Given the description of an element on the screen output the (x, y) to click on. 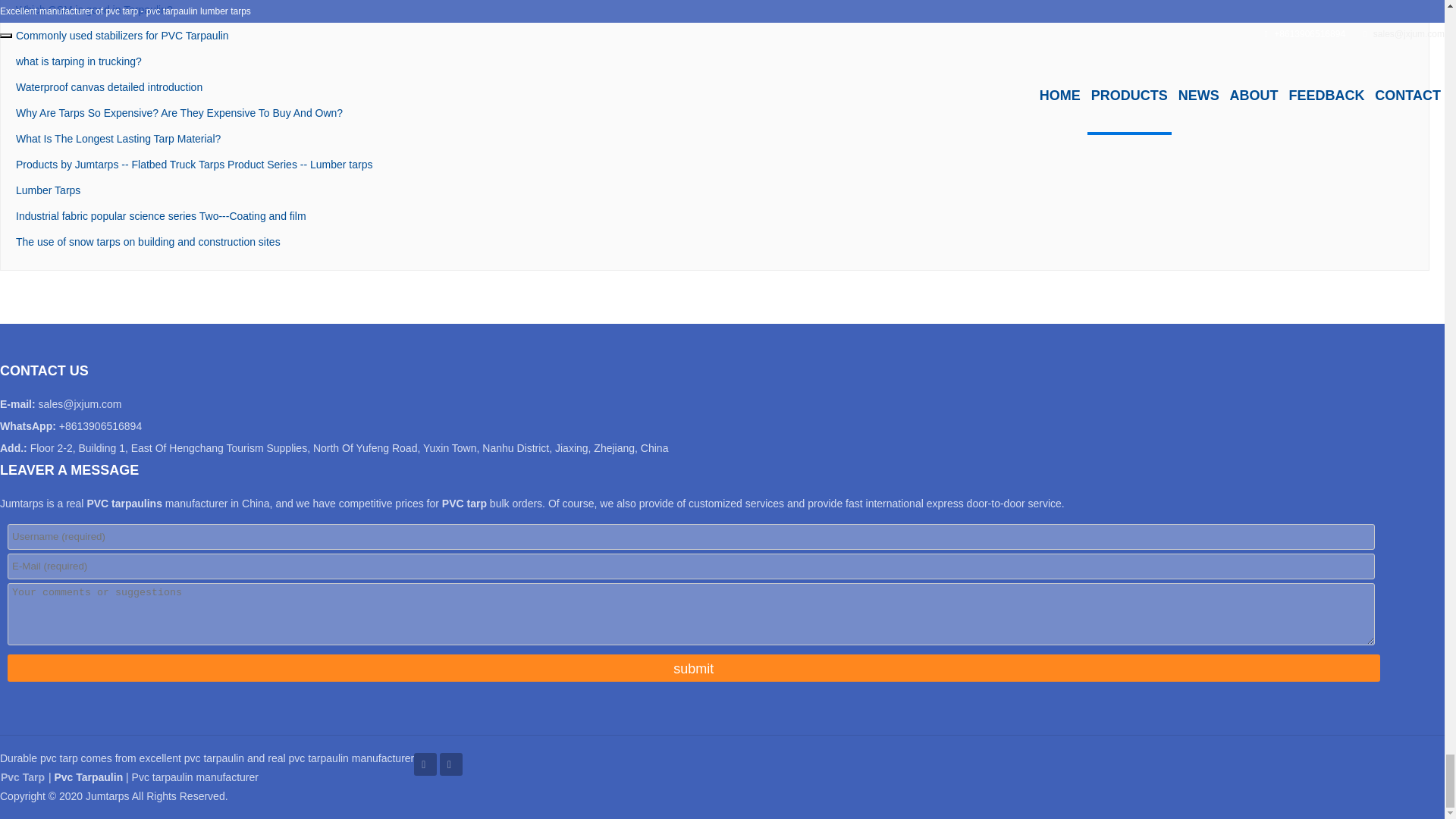
submit (693, 667)
Lumber Tarps (48, 190)
Which GSM is good in Tarpaulin? (94, 9)
Commonly used stabilizers for PVC Tarpaulin (122, 35)
Waterproof canvas detailed introduction (109, 87)
What Is The Longest Lasting Tarp Material? (118, 138)
what is tarping in trucking? (78, 61)
